Given the description of an element on the screen output the (x, y) to click on. 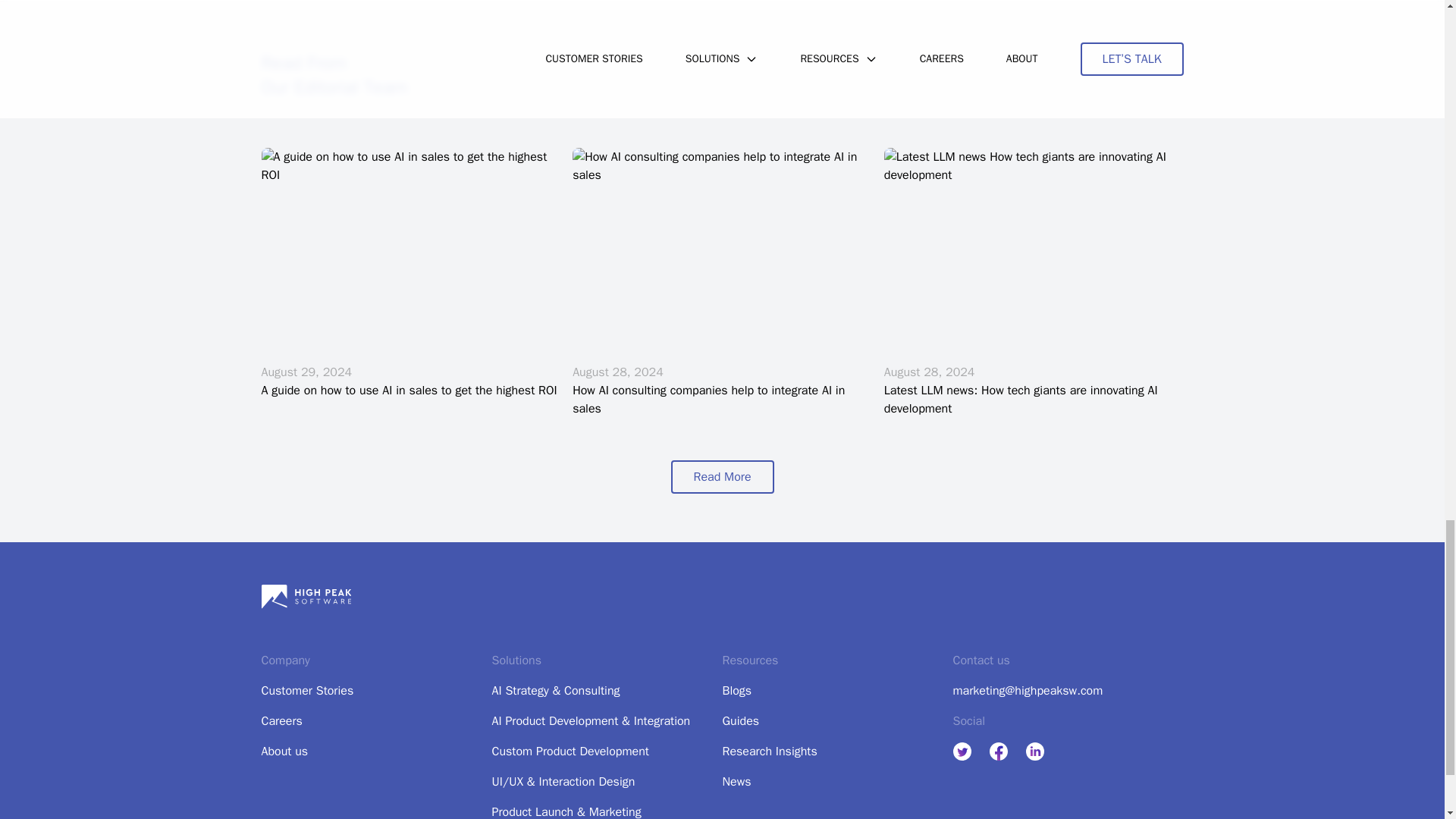
Careers (280, 720)
Read More (721, 476)
Customer Stories (306, 690)
About us (283, 751)
Custom Product Development (569, 751)
